Given the description of an element on the screen output the (x, y) to click on. 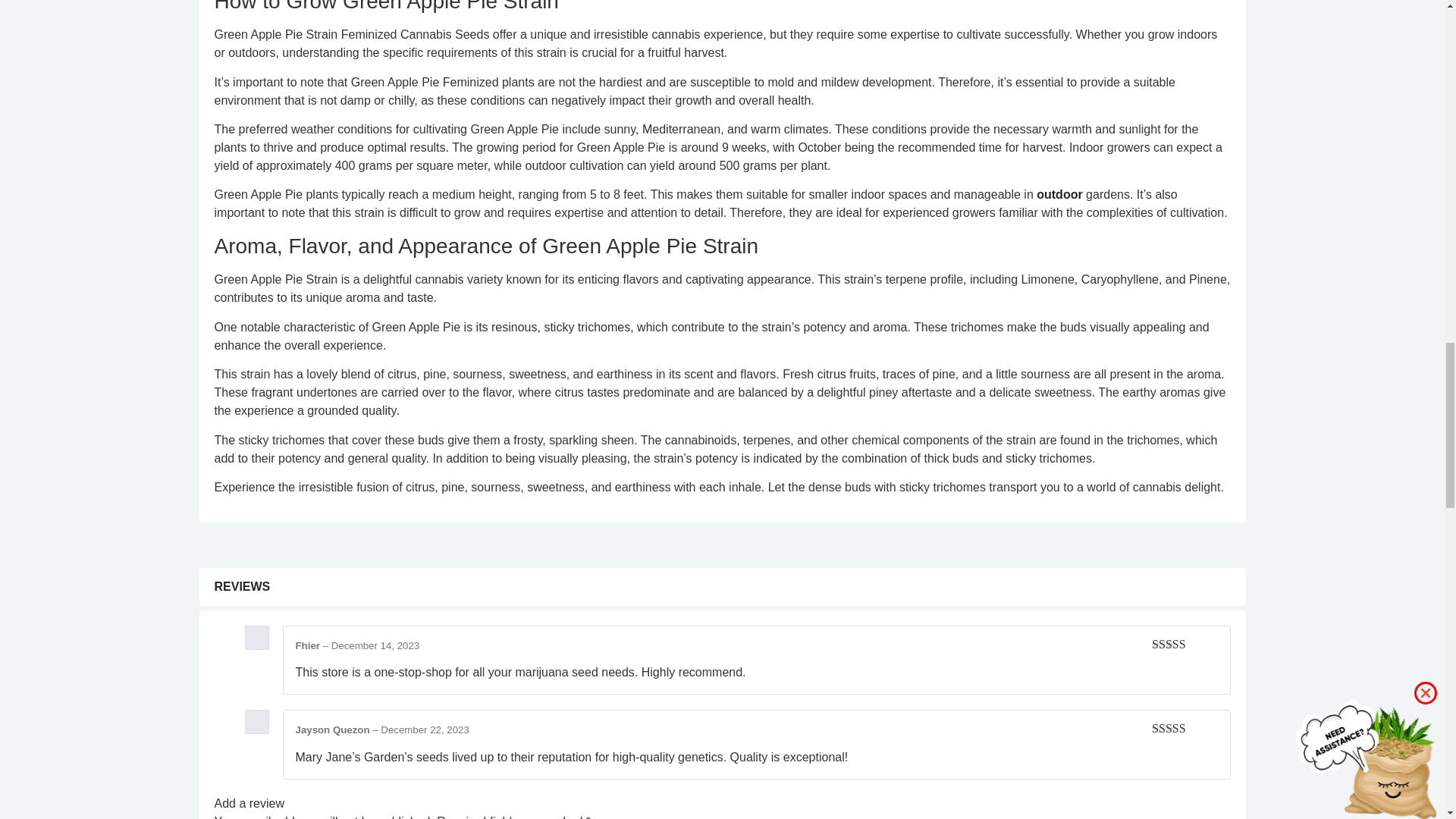
Gravatar for Jayson Quezon (255, 721)
Gravatar for Fhier (255, 637)
